Given the description of an element on the screen output the (x, y) to click on. 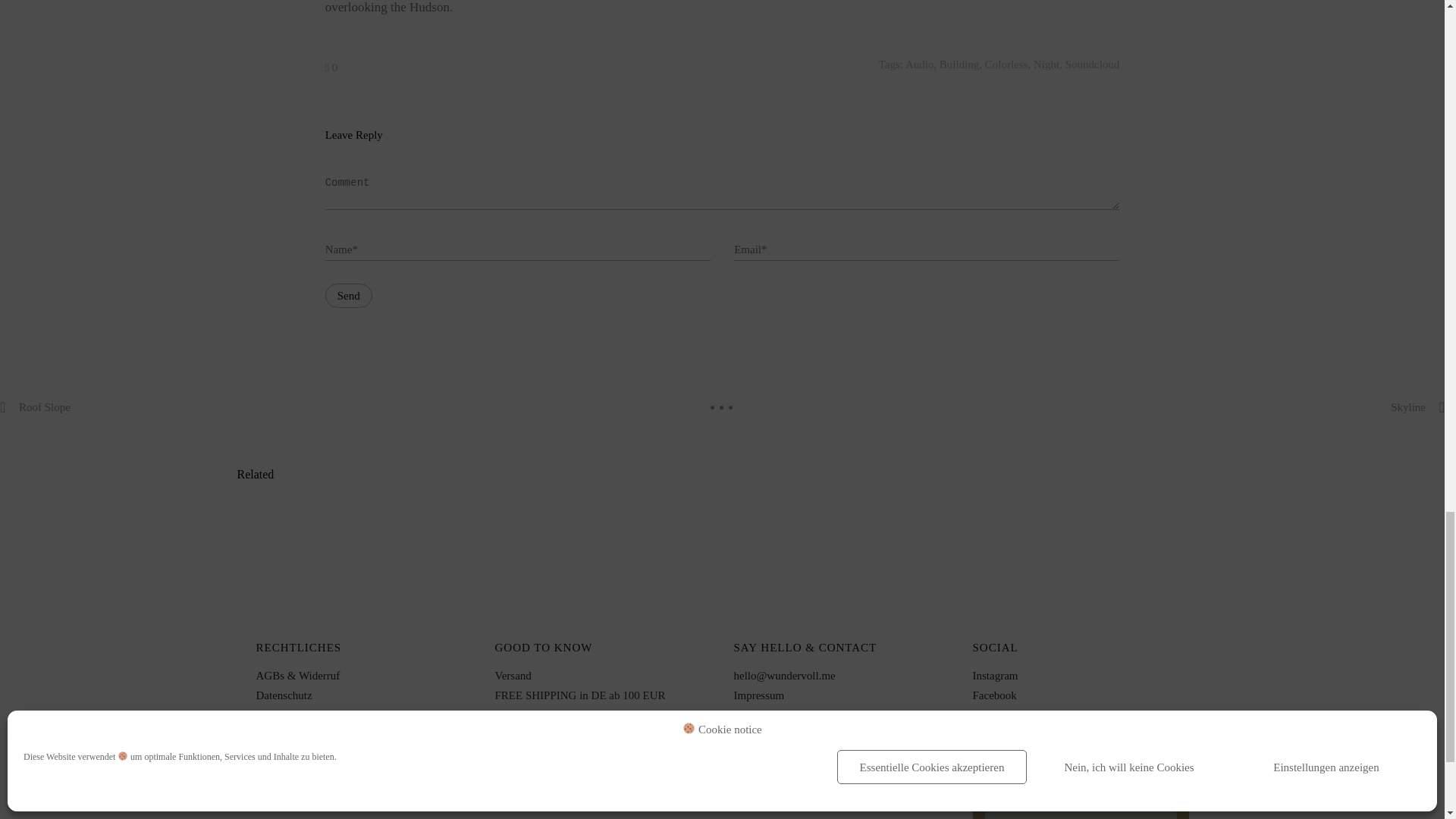
Send (348, 295)
Like (330, 67)
